Given the description of an element on the screen output the (x, y) to click on. 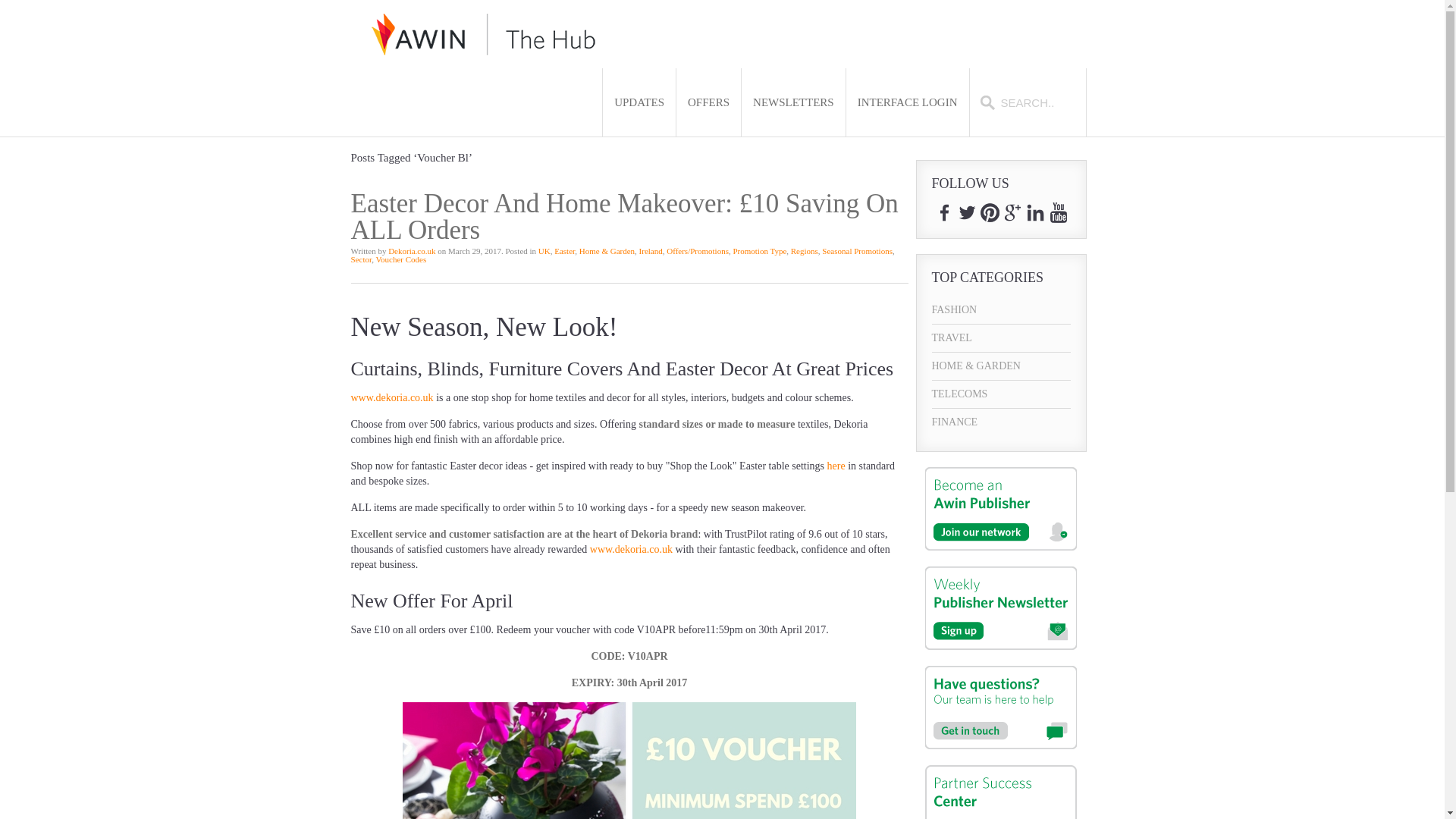
Reset (3, 2)
Promotion Type (759, 250)
NEWSLETTERS (793, 102)
www.dekoria.co.uk (391, 397)
here (836, 465)
Sector (360, 258)
FASHION (1000, 309)
Seasonal Promotions (857, 250)
FINANCE (1000, 421)
Voucher Codes (400, 258)
